Given the description of an element on the screen output the (x, y) to click on. 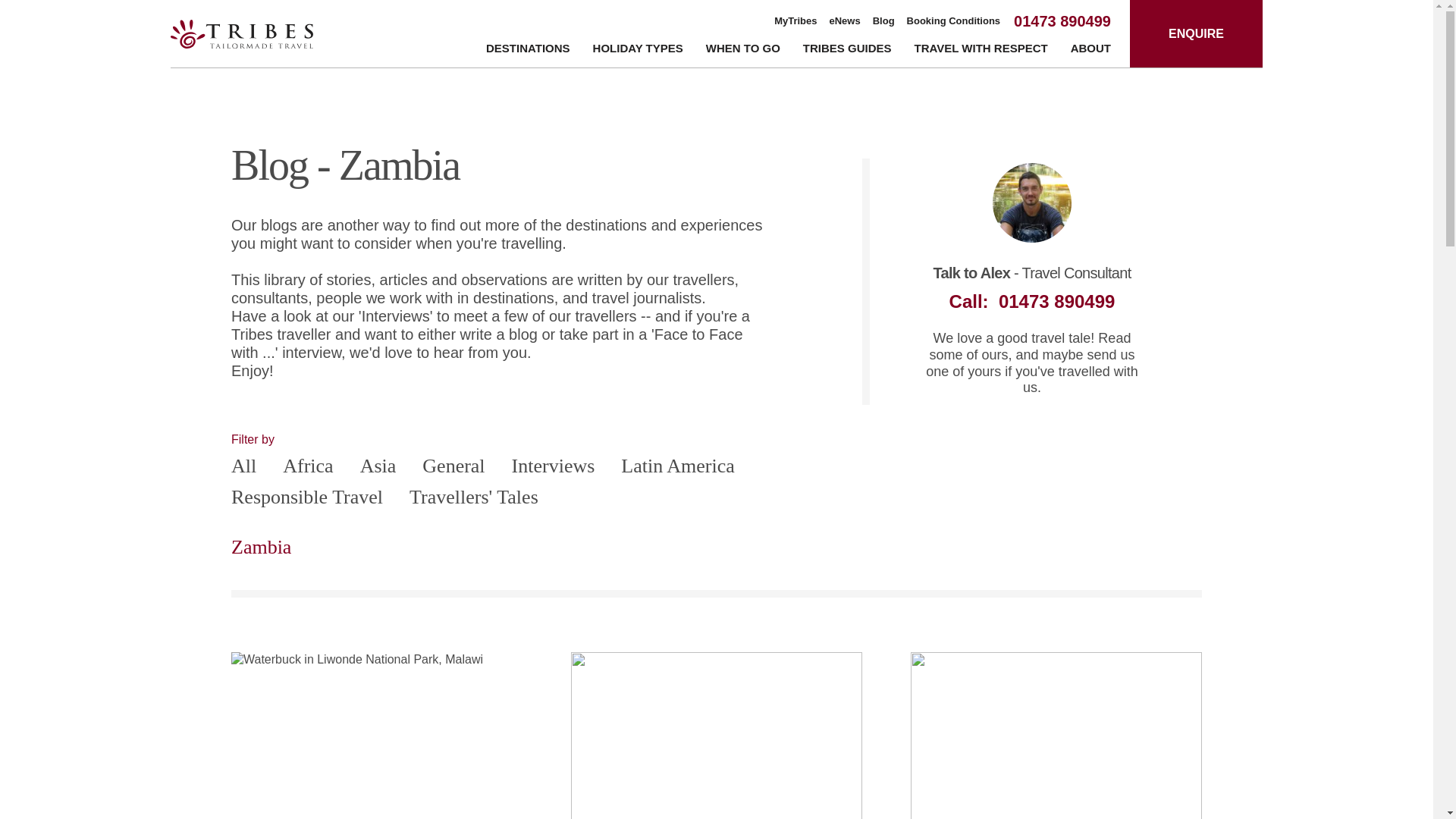
Destinations (528, 50)
DESTINATIONS (528, 50)
MyTribes (795, 21)
eNews (844, 21)
TRAVEL WITH RESPECT (981, 50)
WHEN TO GO (743, 50)
ABOUT (1090, 50)
Blog (883, 21)
HOLIDAY TYPES (637, 50)
Tribes (241, 33)
Booking Conditions (953, 21)
TRIBES GUIDES (847, 50)
Tribes (241, 33)
